Given the description of an element on the screen output the (x, y) to click on. 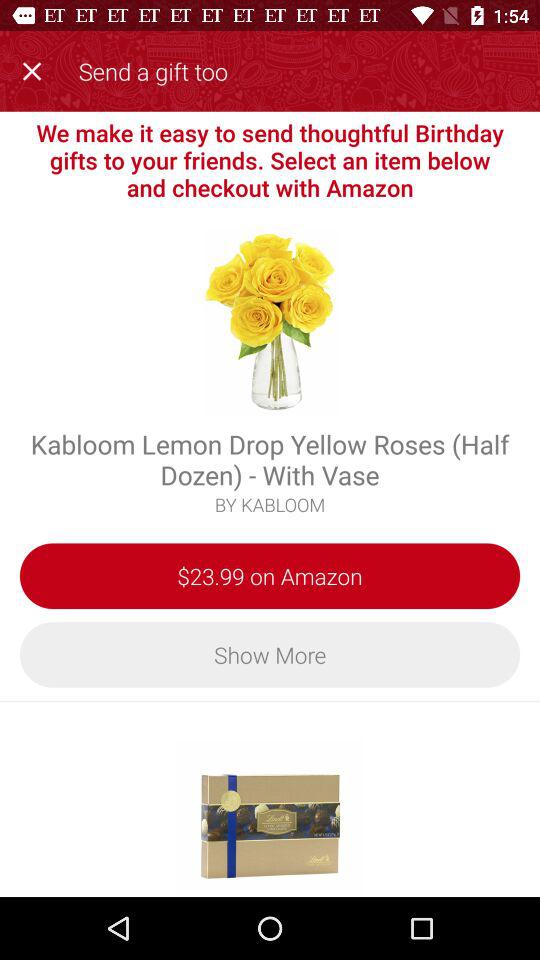
open the item above we make it (36, 68)
